Given the description of an element on the screen output the (x, y) to click on. 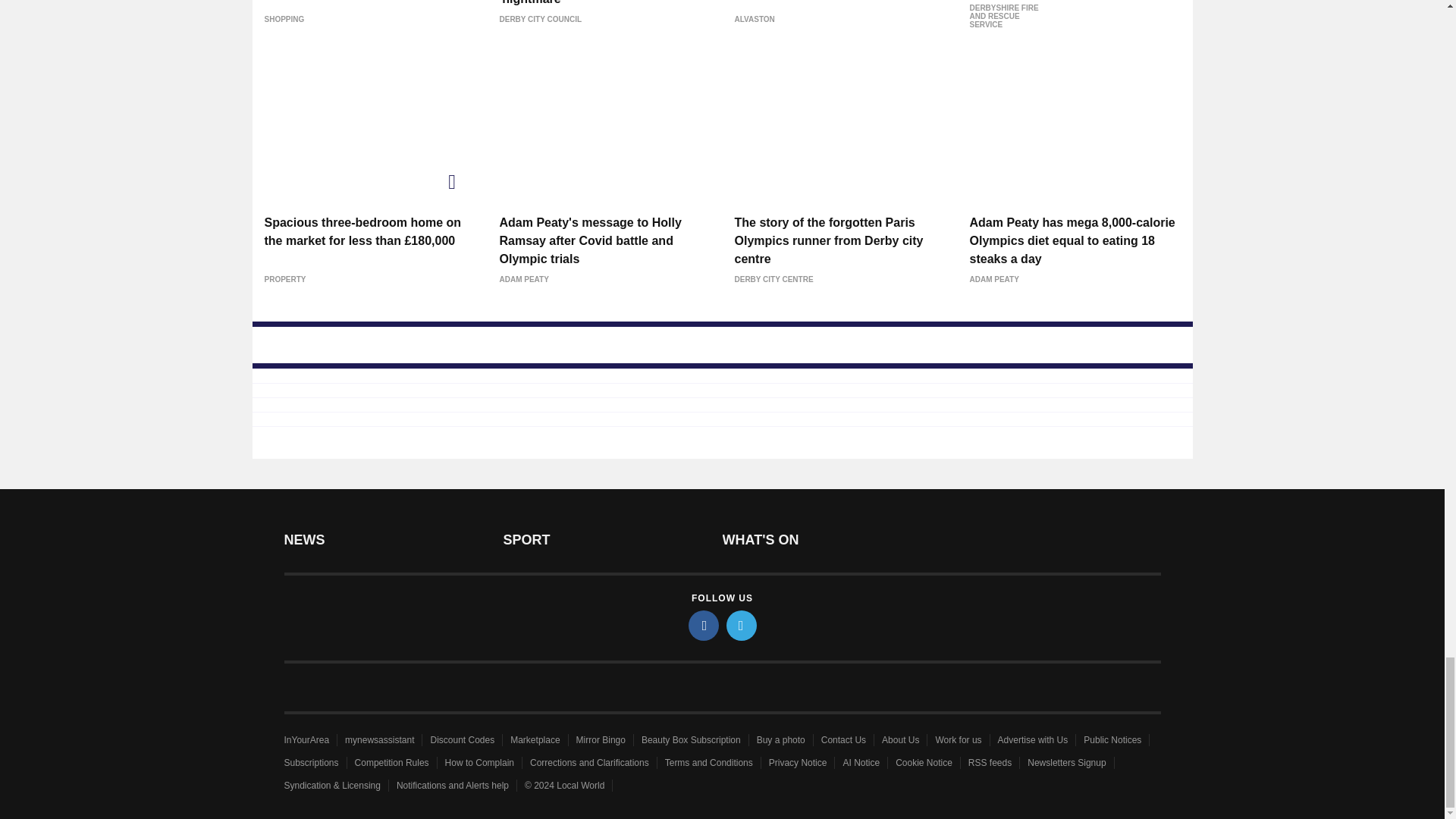
twitter (741, 625)
facebook (703, 625)
